Given the description of an element on the screen output the (x, y) to click on. 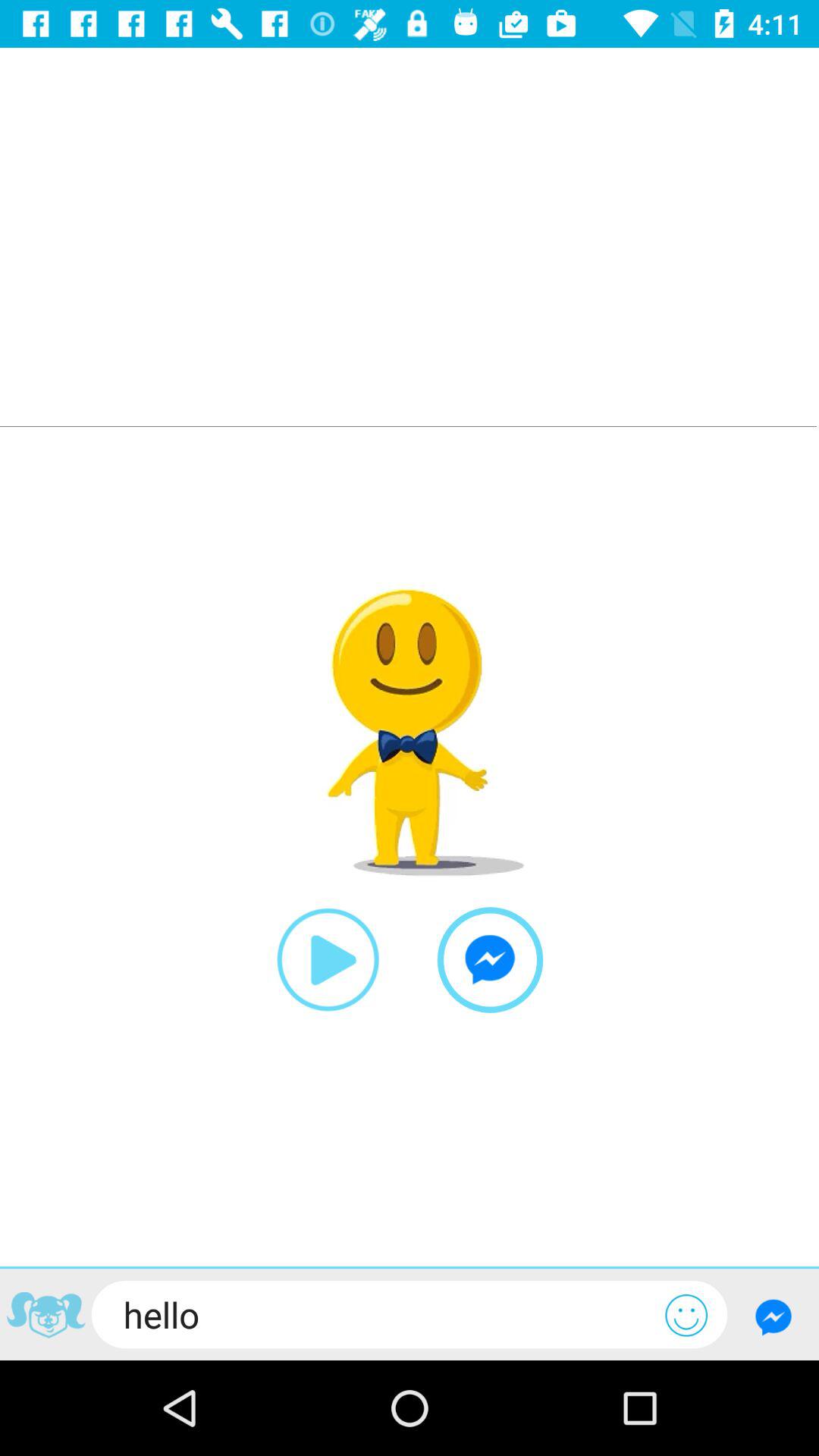
display emojis (686, 1315)
